Given the description of an element on the screen output the (x, y) to click on. 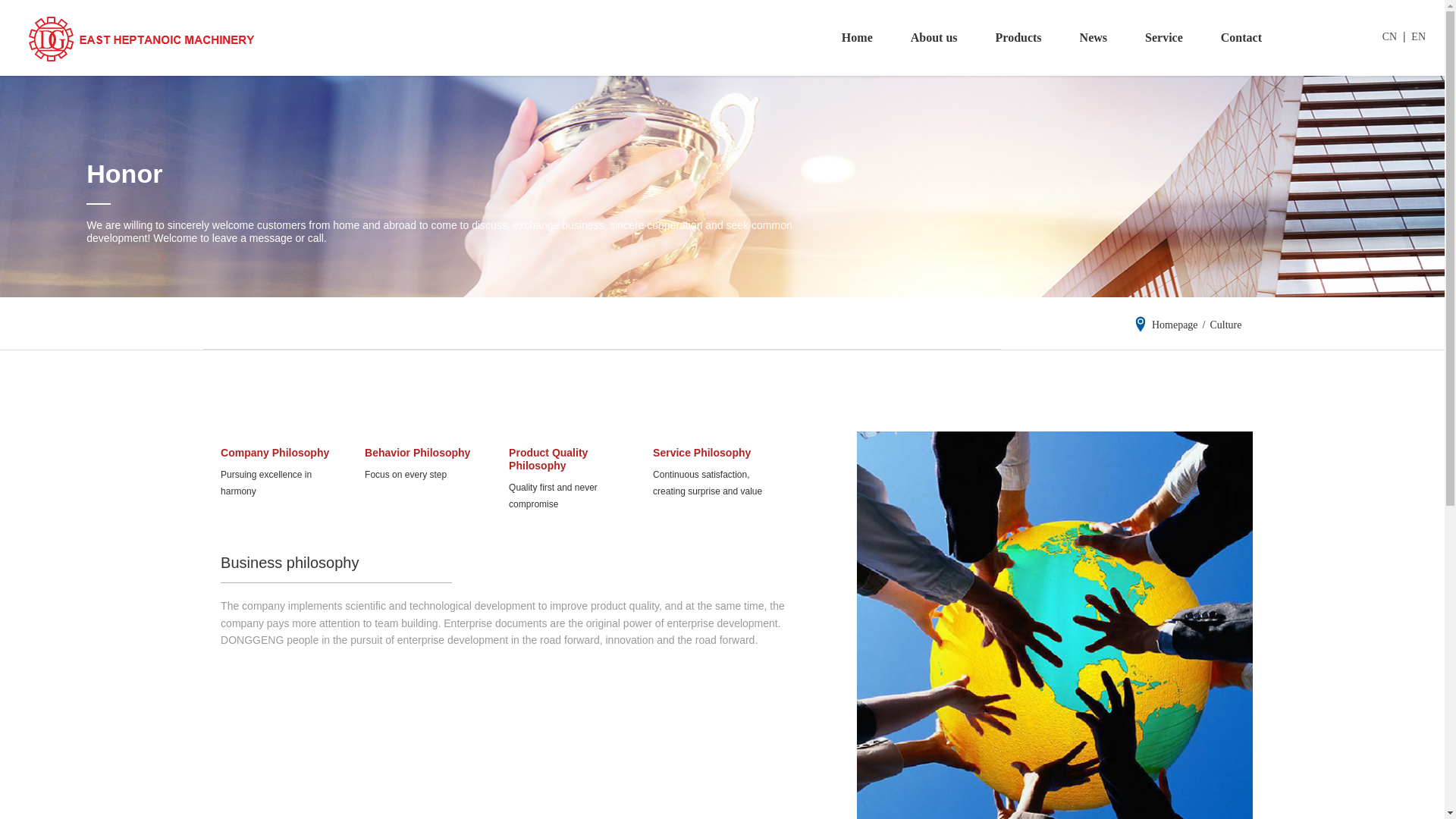
EN (1417, 36)
Homepage (1174, 324)
CN (1388, 36)
